Given the description of an element on the screen output the (x, y) to click on. 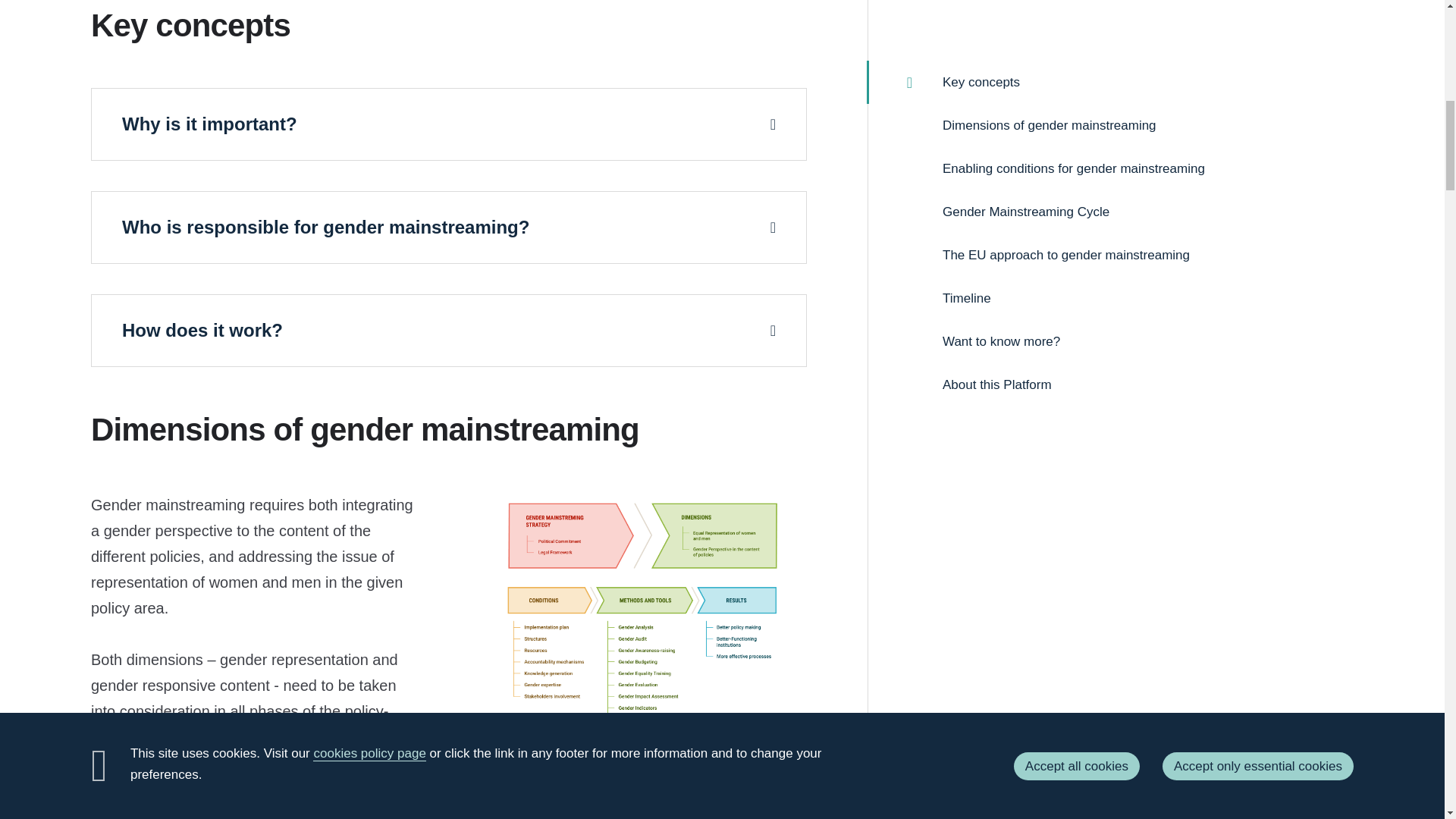
Dimensions of gender mainstreaming (642, 652)
